Given the description of an element on the screen output the (x, y) to click on. 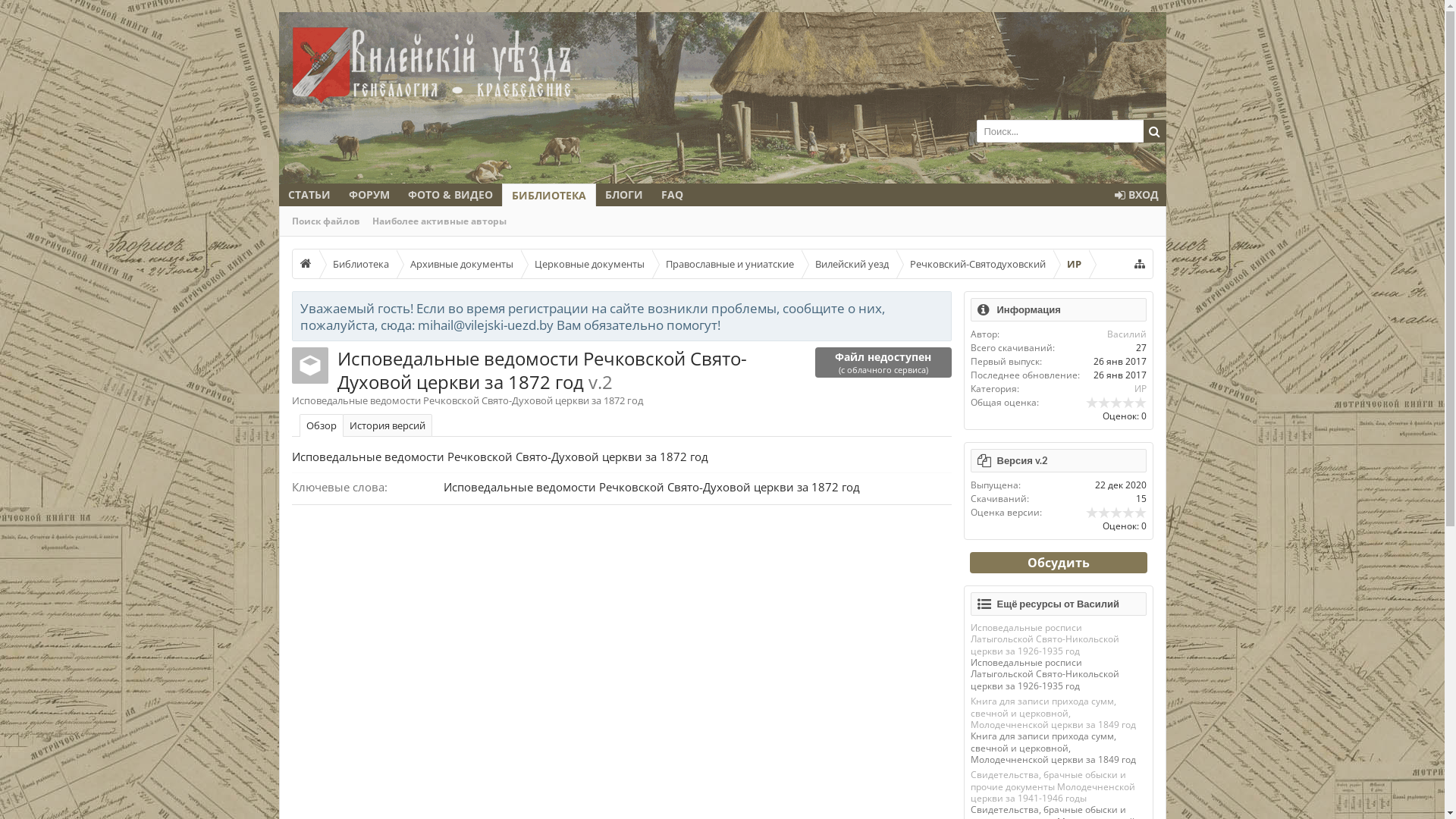
0,00 Element type: hover (1115, 401)
FAQ Element type: text (672, 194)
0,00 Element type: hover (1115, 511)
